Given the description of an element on the screen output the (x, y) to click on. 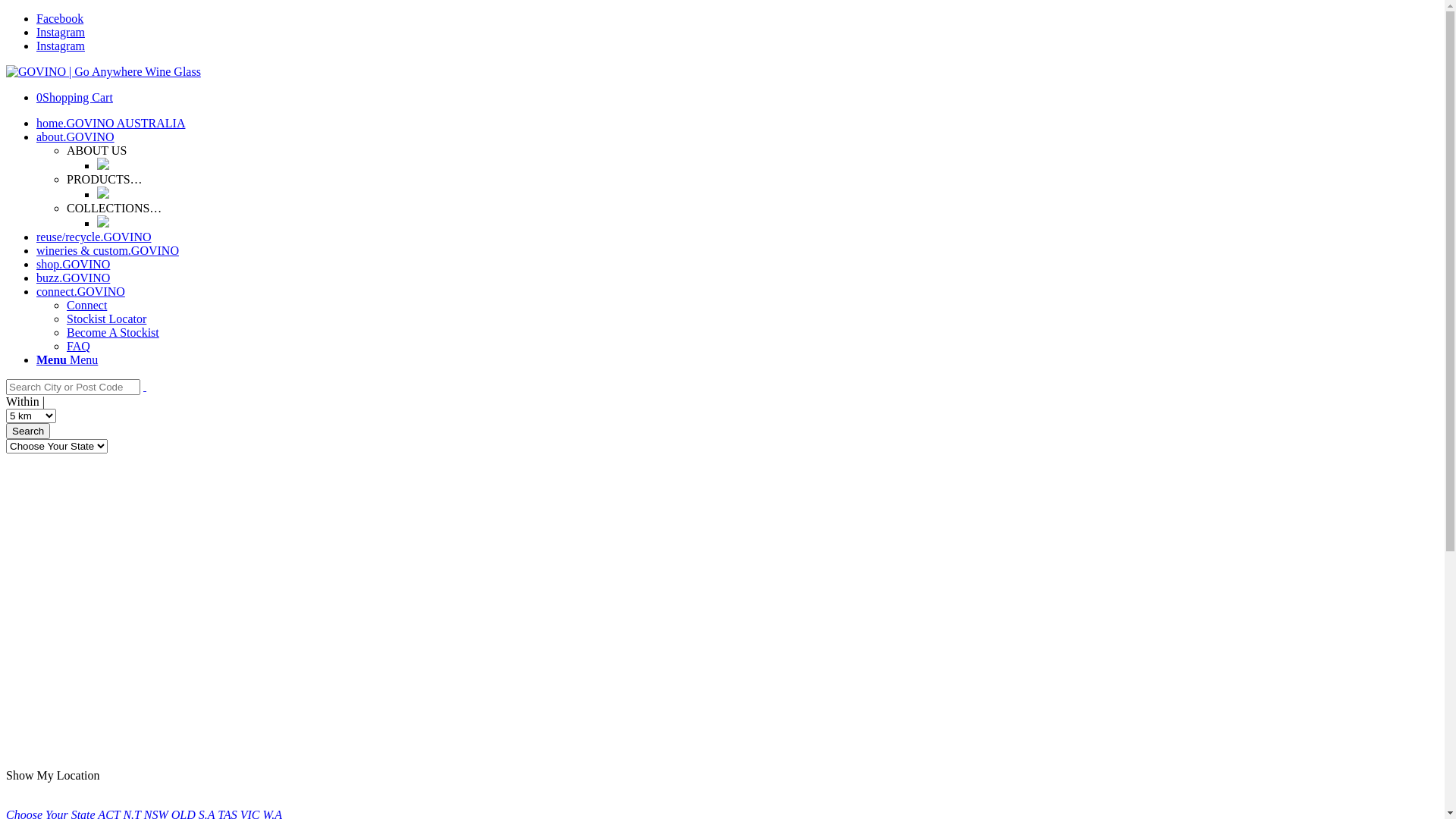
Facebook Element type: text (59, 18)
buzz.GOVINO Element type: text (72, 277)
shop.GOVINO Element type: text (72, 263)
Instagram Element type: text (60, 31)
Search Element type: text (28, 431)
reuse/recycle.GOVINO Element type: text (93, 236)
0Shopping Cart Element type: text (74, 97)
home.GOVINO AUSTRALIA Element type: text (110, 122)
Menu Menu Element type: text (66, 359)
connect.GOVINO Element type: text (80, 291)
about.GOVINO Element type: text (75, 136)
  Element type: text (144, 385)
wineries & custom.GOVINO Element type: text (107, 250)
Stockist Locator Element type: text (106, 318)
FAQ Element type: text (78, 345)
Connect Element type: text (86, 304)
Become A Stockist Element type: text (112, 332)
Instagram Element type: text (60, 45)
